Given the description of an element on the screen output the (x, y) to click on. 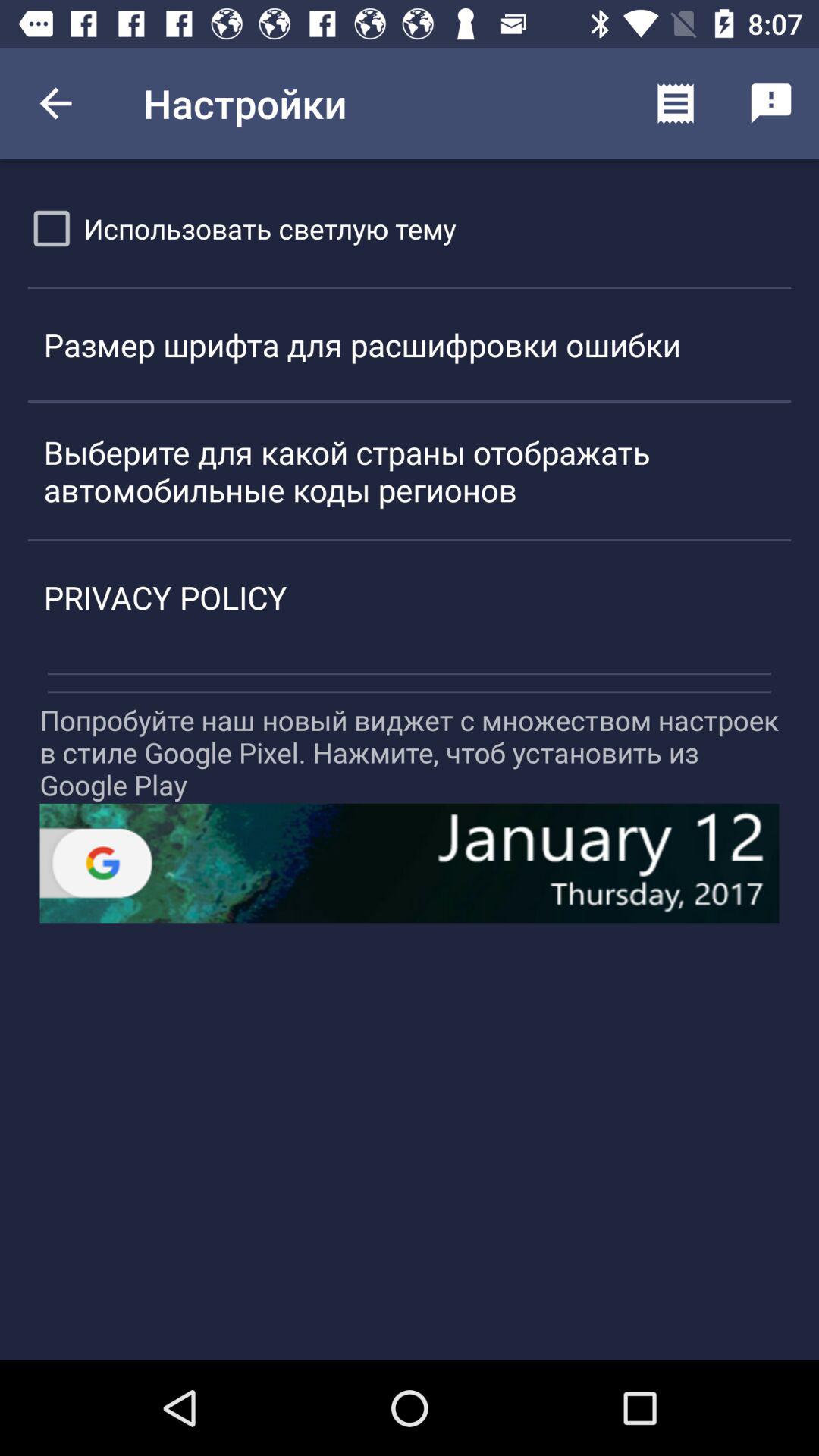
tap the privacy policy (409, 596)
